Given the description of an element on the screen output the (x, y) to click on. 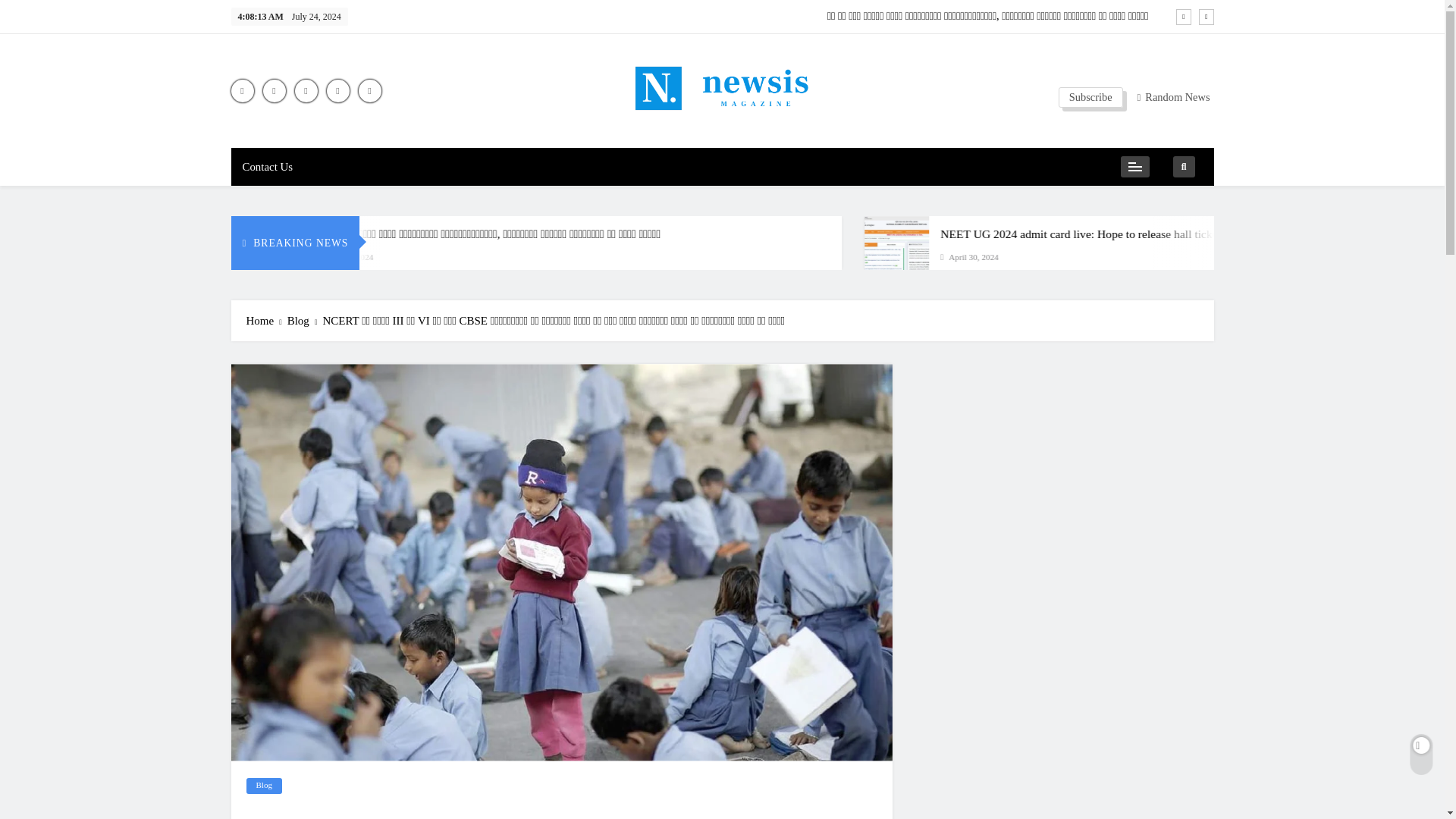
Random News (1173, 96)
April 30, 2024 (1085, 255)
Subscribe (1090, 96)
Subscribe (1090, 96)
April 30, 2024 (465, 255)
Contact Us (267, 166)
acbhindi.in (602, 138)
Random News (1167, 96)
